Given the description of an element on the screen output the (x, y) to click on. 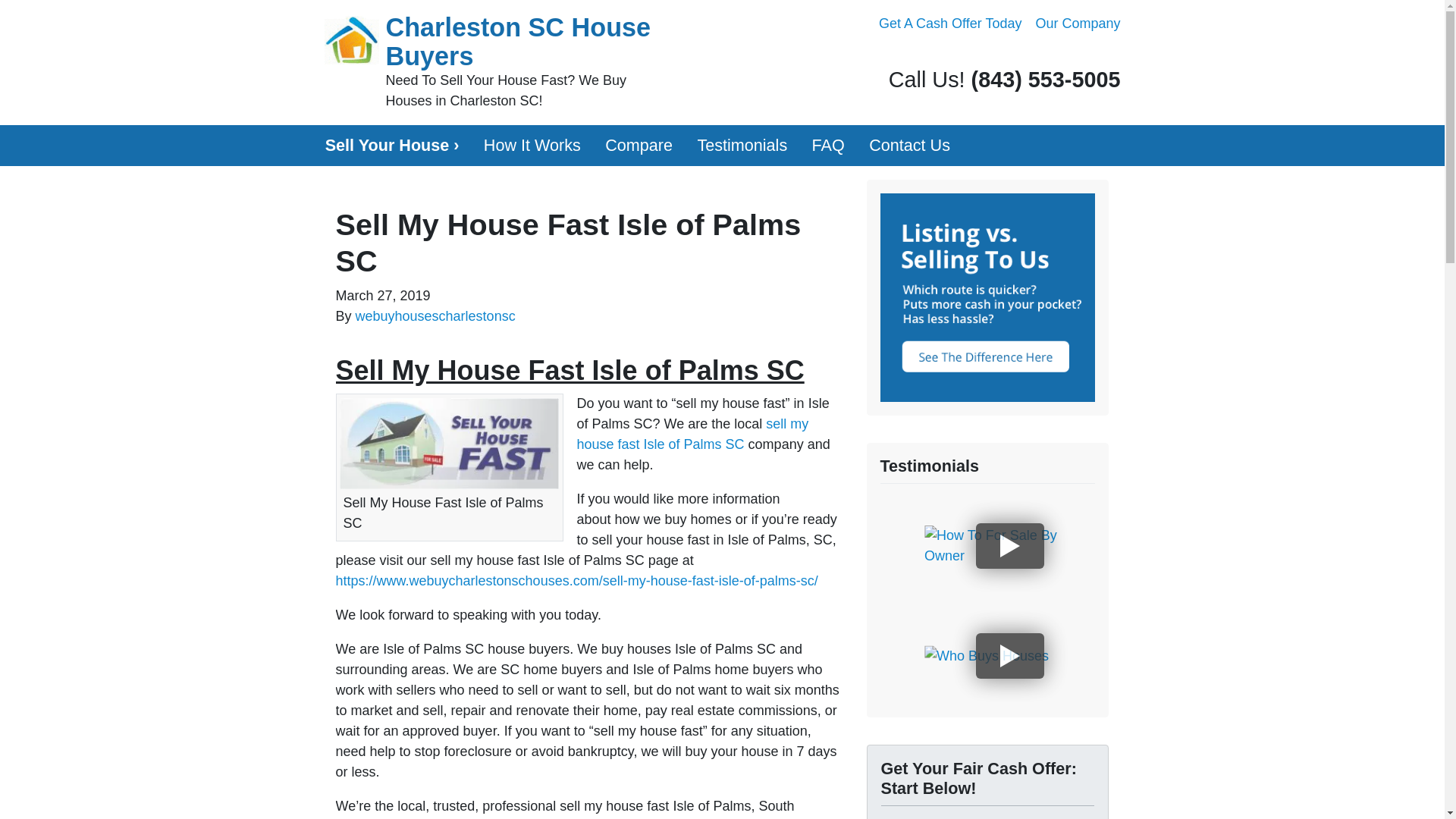
How It Works (531, 145)
FAQ (828, 145)
YouTube (1068, 54)
Get A Cash Offer Today (949, 23)
LinkedIn (1090, 54)
webuyhousescharlestonsc (435, 315)
How It Works (531, 145)
Facebook (1048, 54)
Testimonials (741, 145)
sell my house fast Isle of Palms SC (692, 434)
Testimonials (741, 145)
Contact Us (909, 145)
Contact Us (909, 145)
Twitter (1026, 54)
